Given the description of an element on the screen output the (x, y) to click on. 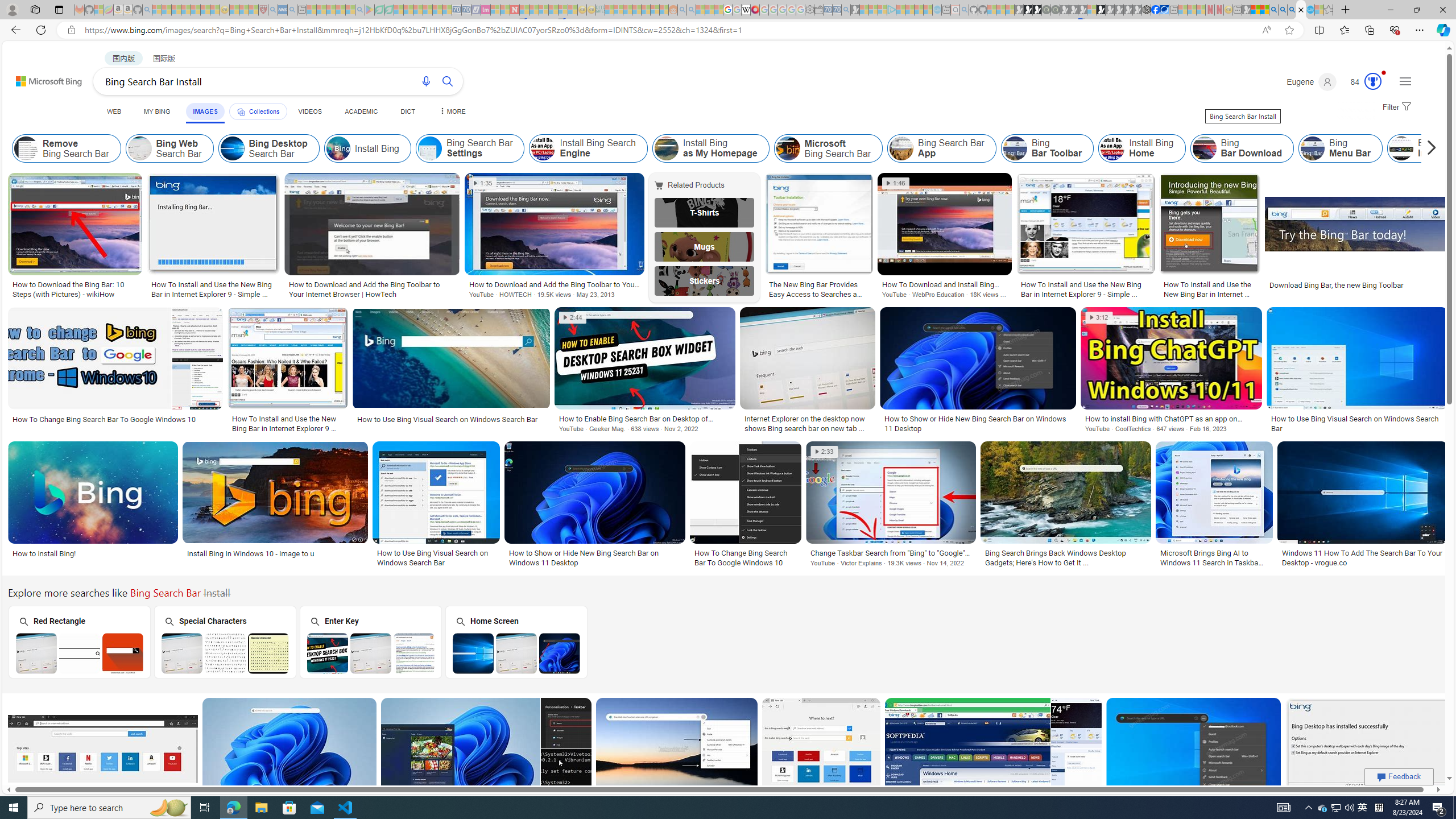
Cheap Hotels - Save70.com - Sleeping (466, 9)
MSN - Sleeping (1246, 9)
How to install Bing! (93, 552)
How to install Bing with ChatGPT as an app on Windows 11 (1170, 418)
Bing Search Bar App (941, 148)
Download Bing Bar, the new Bing ToolbarSave (1356, 237)
